Given the description of an element on the screen output the (x, y) to click on. 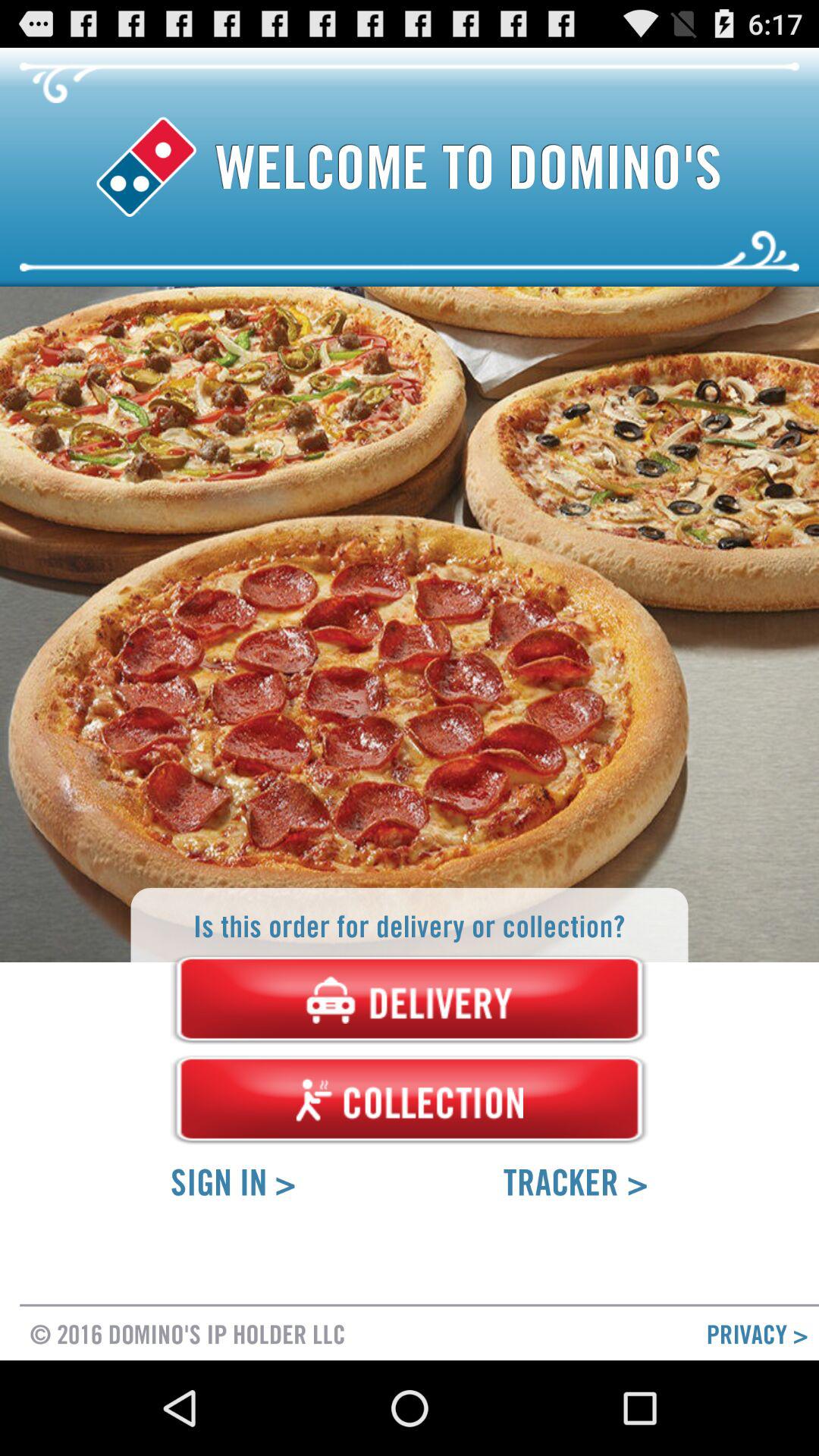
choose the delivery option (409, 999)
